Given the description of an element on the screen output the (x, y) to click on. 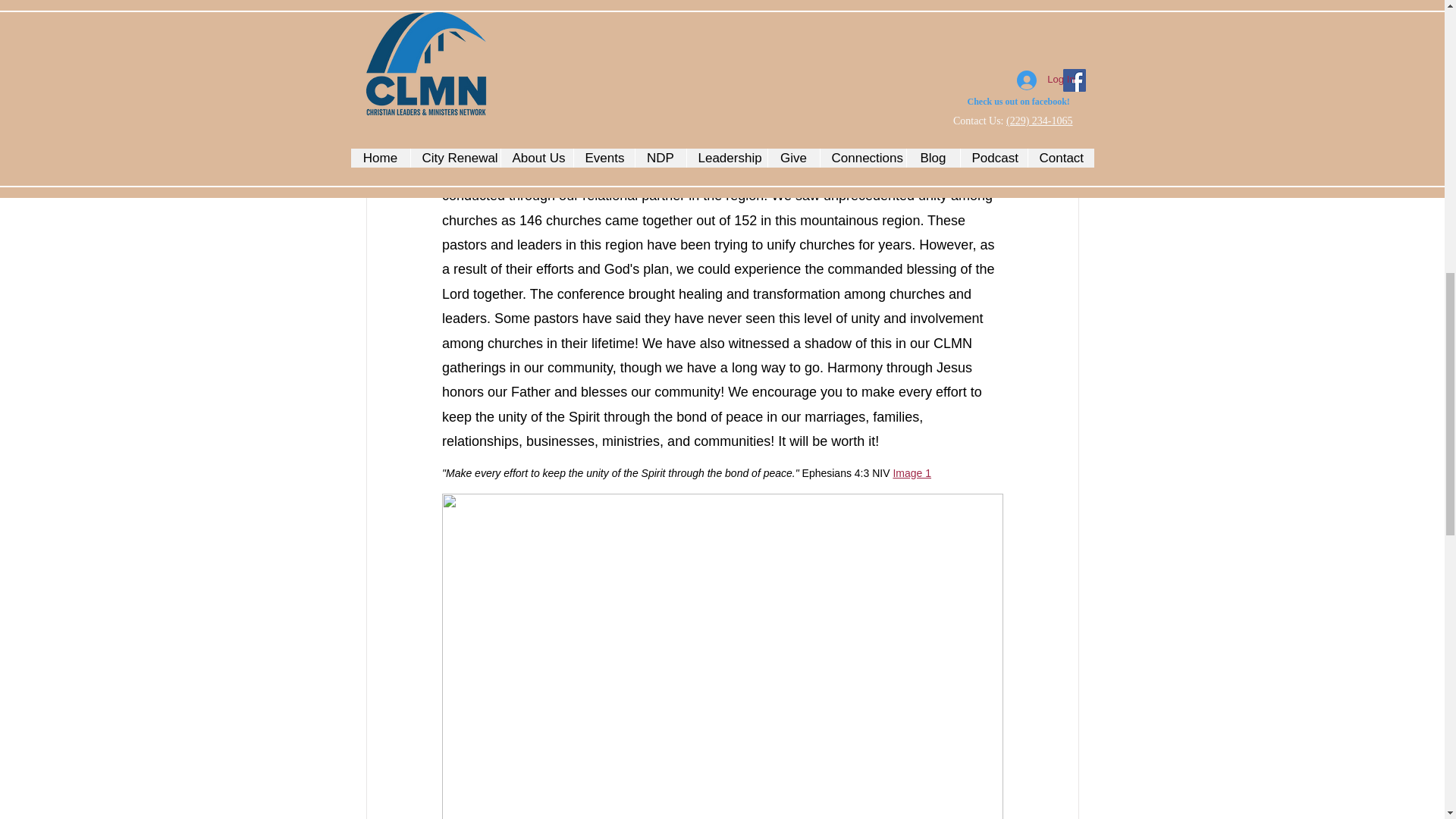
Image 1 (911, 472)
